Given the description of an element on the screen output the (x, y) to click on. 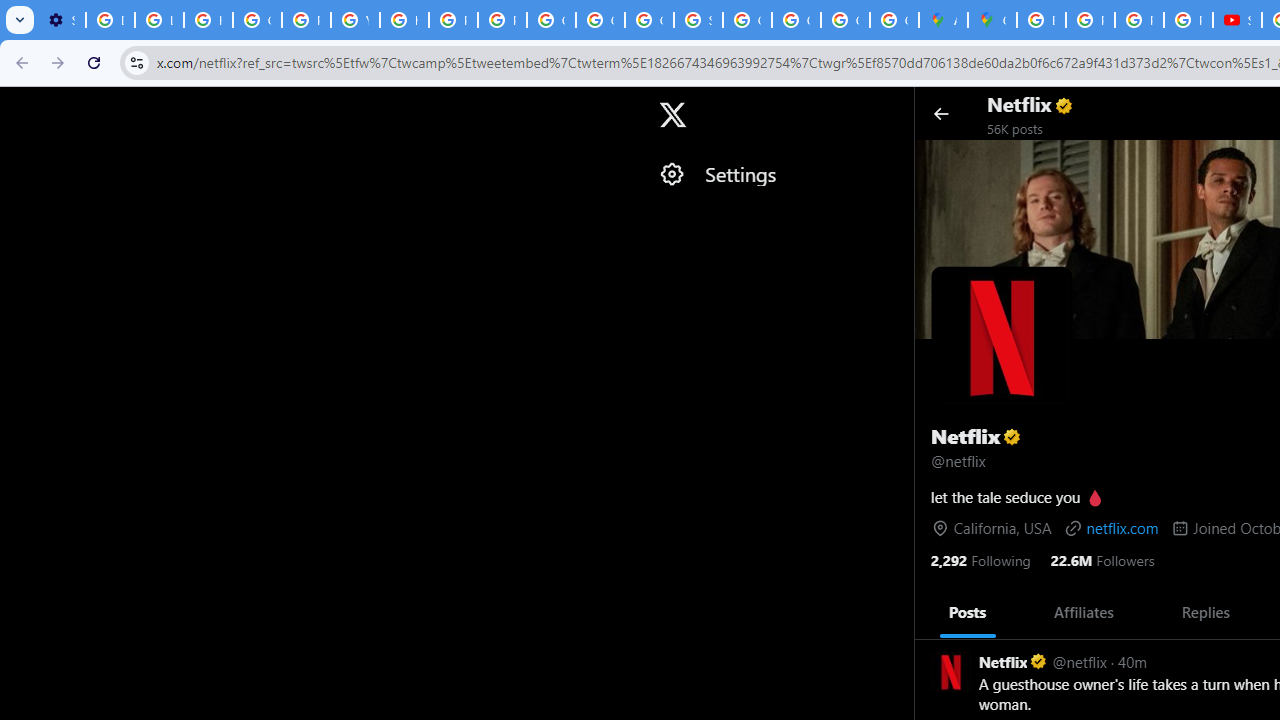
YouTube (355, 20)
Delete photos & videos - Computer - Google Photos Help (109, 20)
2,292 Following (980, 559)
Settings (776, 173)
Blogger Policies and Guidelines - Transparency Center (1041, 20)
Posts (968, 611)
Google Maps (992, 20)
22.6M Followers (1101, 559)
Square profile picture (950, 670)
Skip to trending (17, 105)
